Given the description of an element on the screen output the (x, y) to click on. 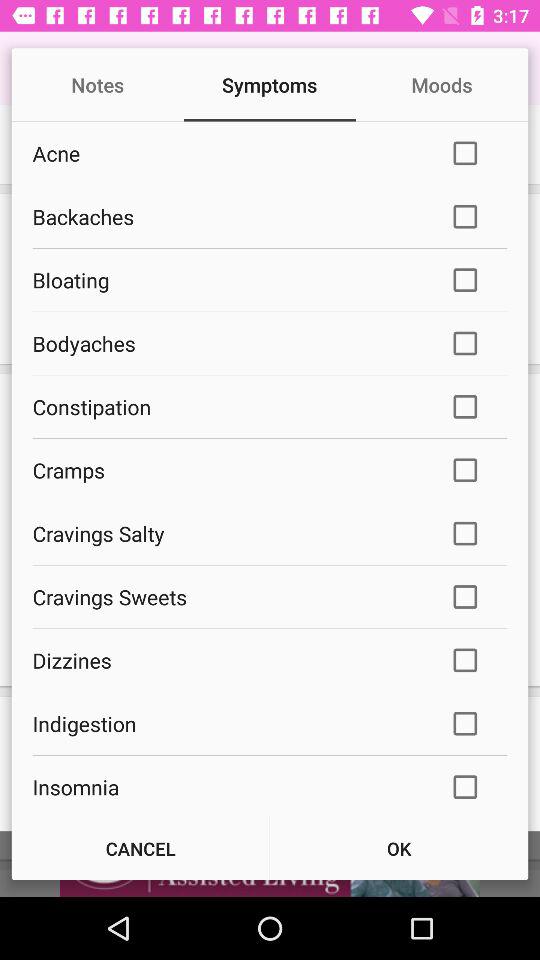
turn off cancel icon (140, 848)
